Given the description of an element on the screen output the (x, y) to click on. 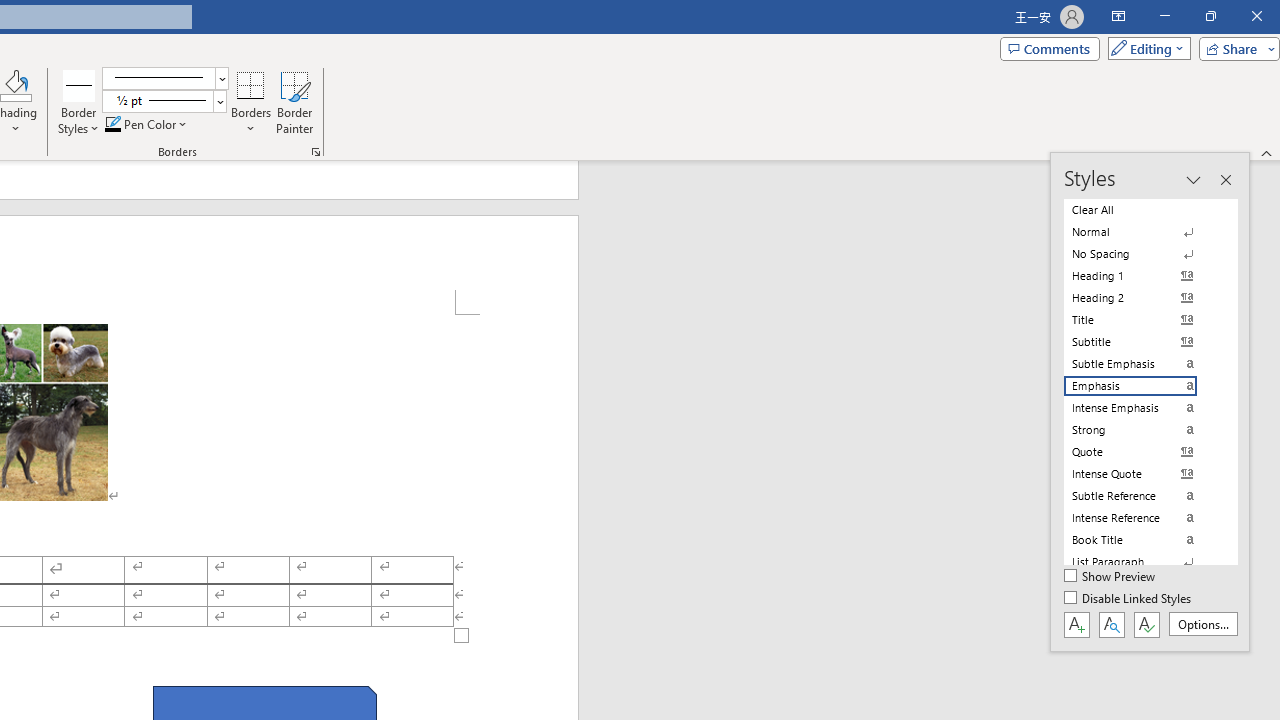
No Spacing (1142, 253)
Options... (1202, 623)
Heading 1 (1142, 275)
Pen Style (165, 78)
Title (1142, 319)
Intense Quote (1142, 473)
Border Styles (79, 102)
Intense Reference (1142, 517)
Border Styles (79, 84)
List Paragraph (1142, 561)
Book Title (1142, 539)
Pen Weight (164, 101)
